Given the description of an element on the screen output the (x, y) to click on. 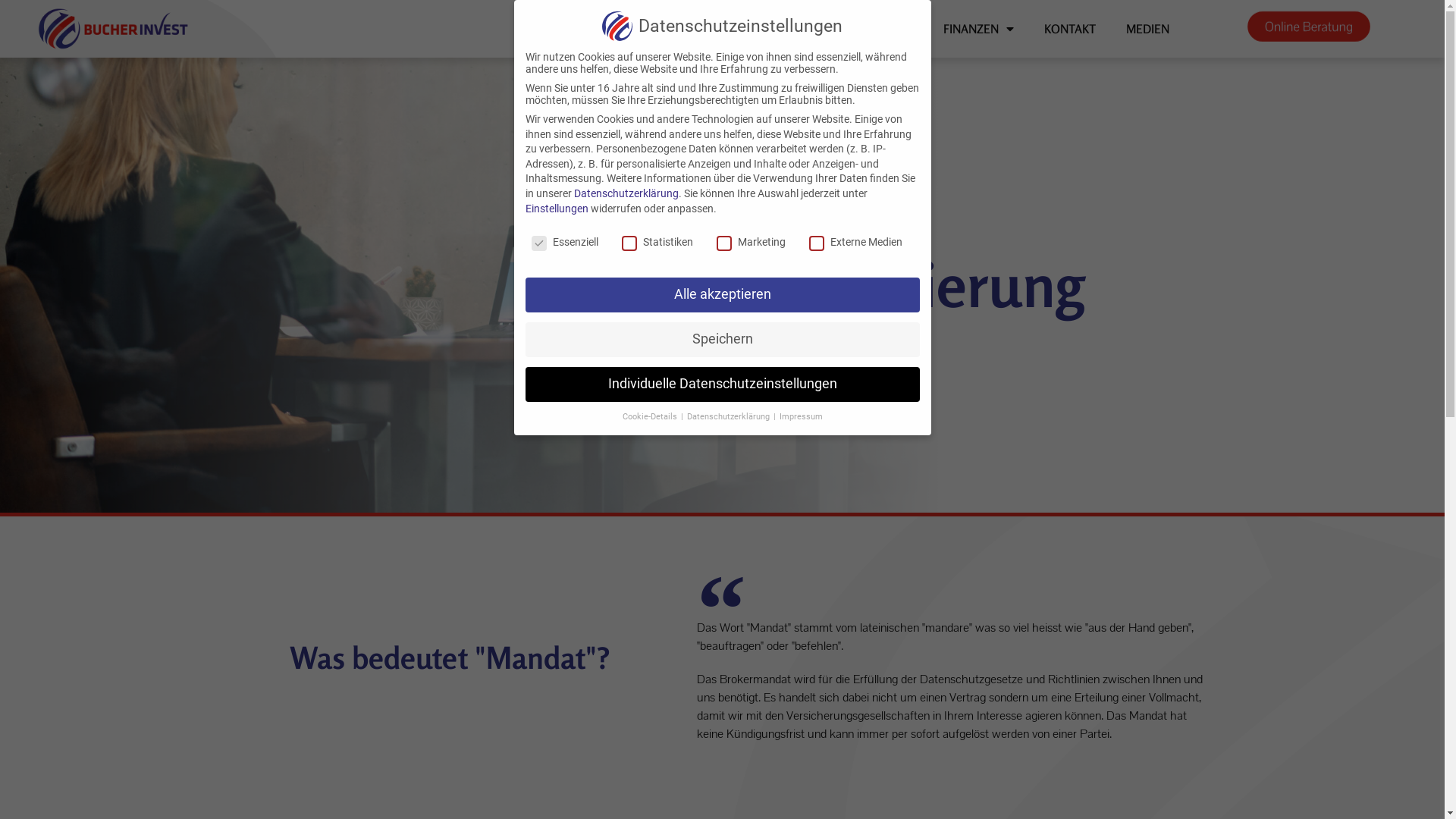
Individuelle Datenschutzeinstellungen Element type: text (721, 384)
HOME Element type: text (649, 28)
Cookie-Details Element type: text (649, 416)
Alle akzeptieren Element type: text (721, 294)
KONTAKT Element type: text (1069, 28)
Einstellungen Element type: text (555, 208)
MEDIEN Element type: text (1147, 28)
Speichern Element type: text (721, 339)
VERSICHERUNGEN Element type: text (855, 28)
Impressum Element type: text (800, 416)
FINANZEN Element type: text (978, 28)
